Given the description of an element on the screen output the (x, y) to click on. 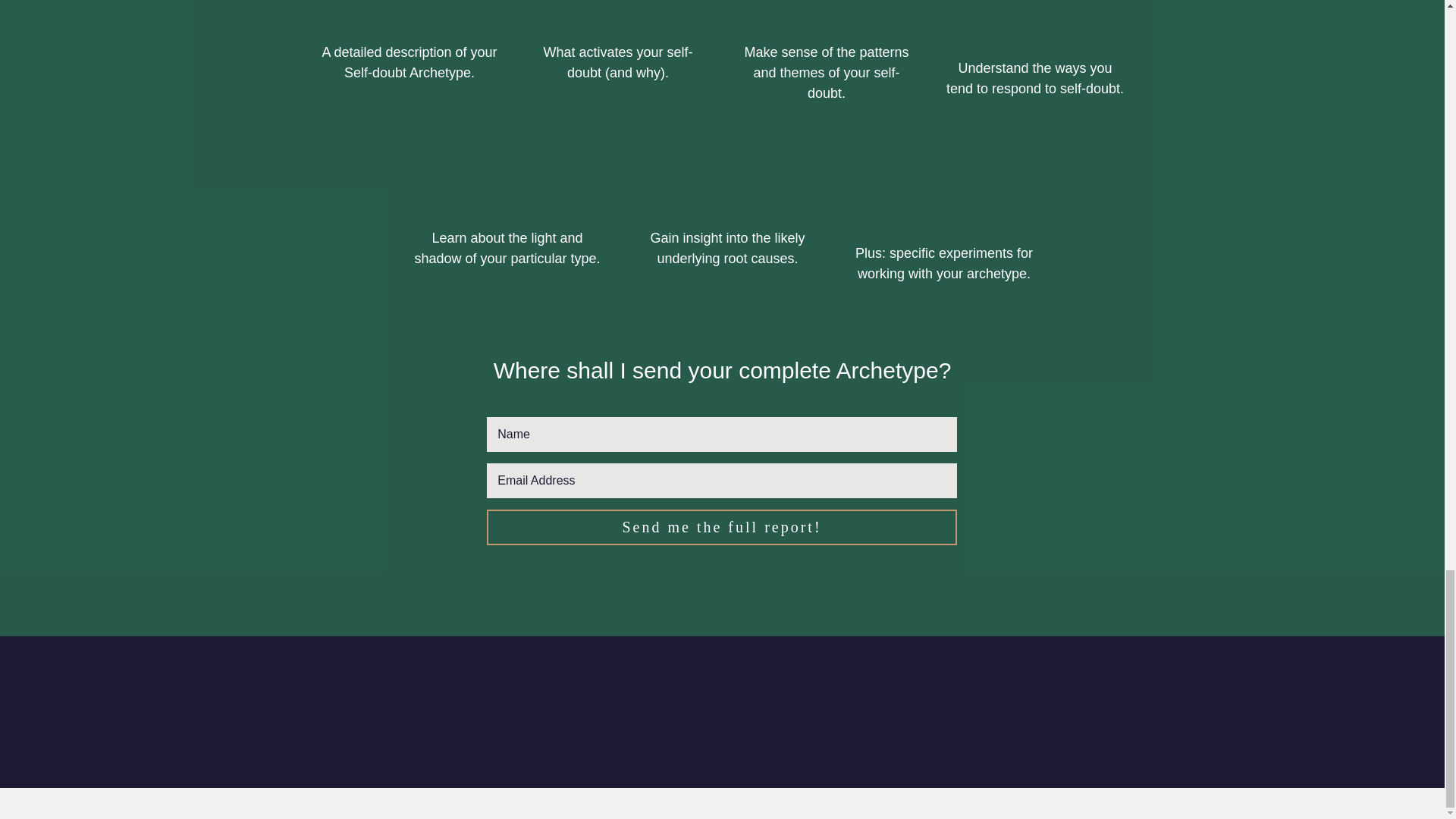
SP - Quiz Archetype Diagram V2-06 (617, 15)
SP - Quiz Archetype Diagram V2-03 (826, 15)
SP - Quiz Archetype Diagram V2-04 (506, 179)
SP - Quiz Archetype Diagram V2-07 (408, 15)
Send me the full report! (721, 527)
SP - Quiz Archetype Diagram V2-05 (726, 179)
SP - Quiz Archetype Diagram V2-02 (943, 194)
